Given the description of an element on the screen output the (x, y) to click on. 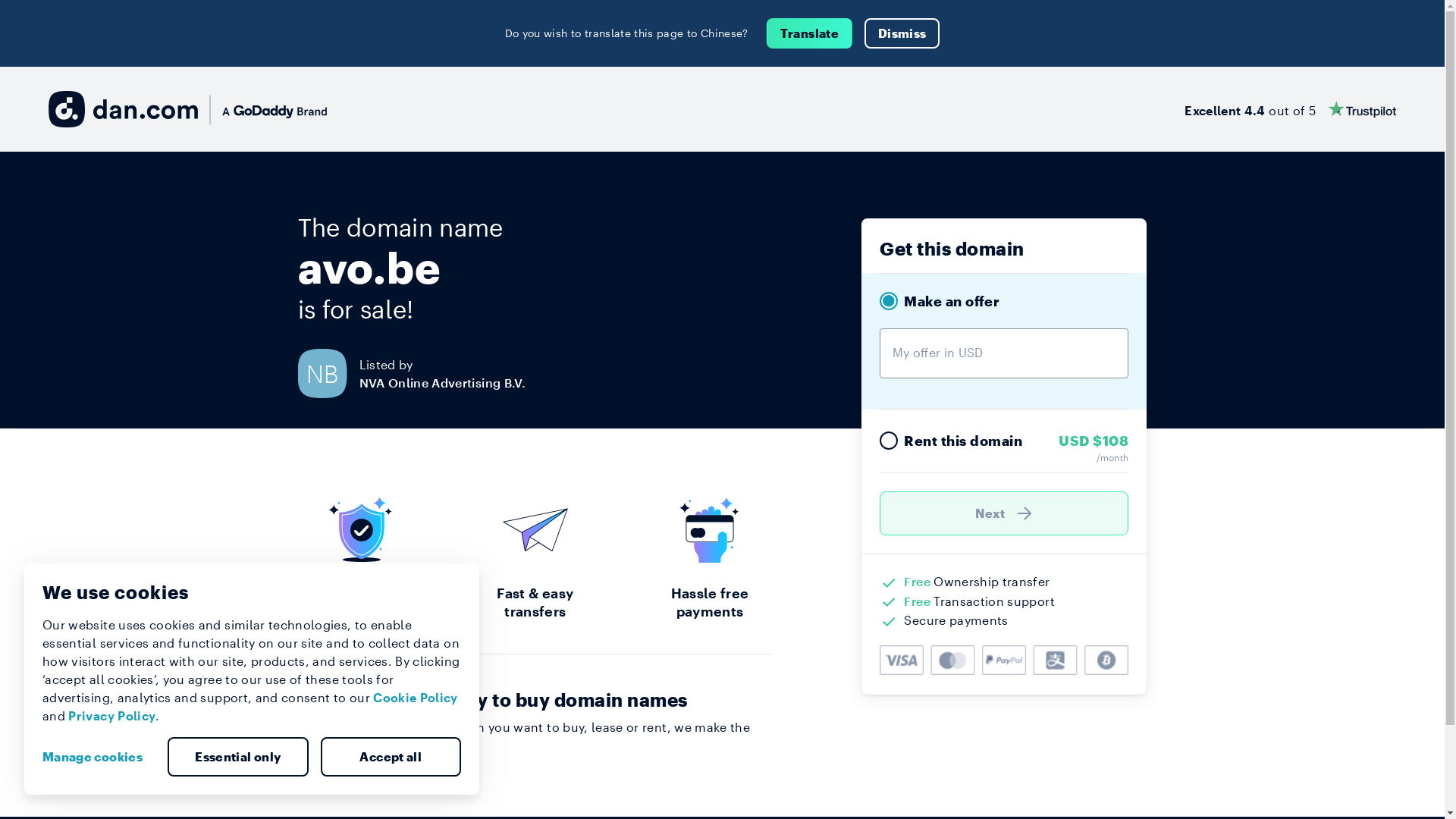
Essential only Element type: text (237, 756)
Manage cookies Element type: text (98, 756)
Cookie Policy Element type: text (415, 697)
Excellent 4.4 out of 5 Element type: text (1290, 109)
Dismiss Element type: text (901, 33)
Accept all Element type: text (390, 756)
Privacy Policy Element type: text (111, 715)
Next
) Element type: text (1003, 513)
Translate Element type: text (809, 33)
